Given the description of an element on the screen output the (x, y) to click on. 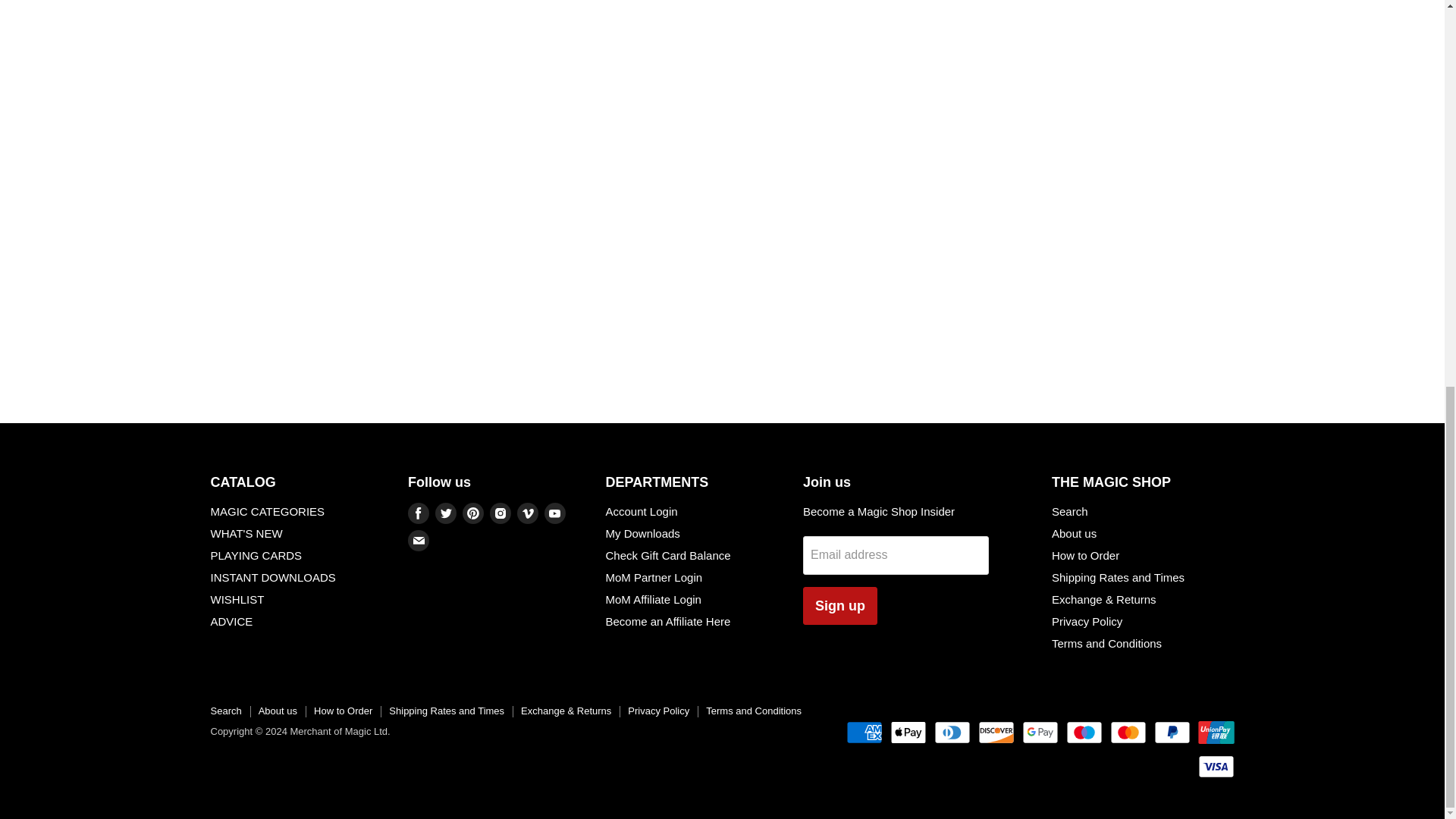
American Express (863, 732)
Pinterest (473, 513)
Facebook (418, 513)
Youtube (555, 513)
Instagram (500, 513)
Twitter (446, 513)
E-mail (418, 540)
Vimeo (527, 513)
